Given the description of an element on the screen output the (x, y) to click on. 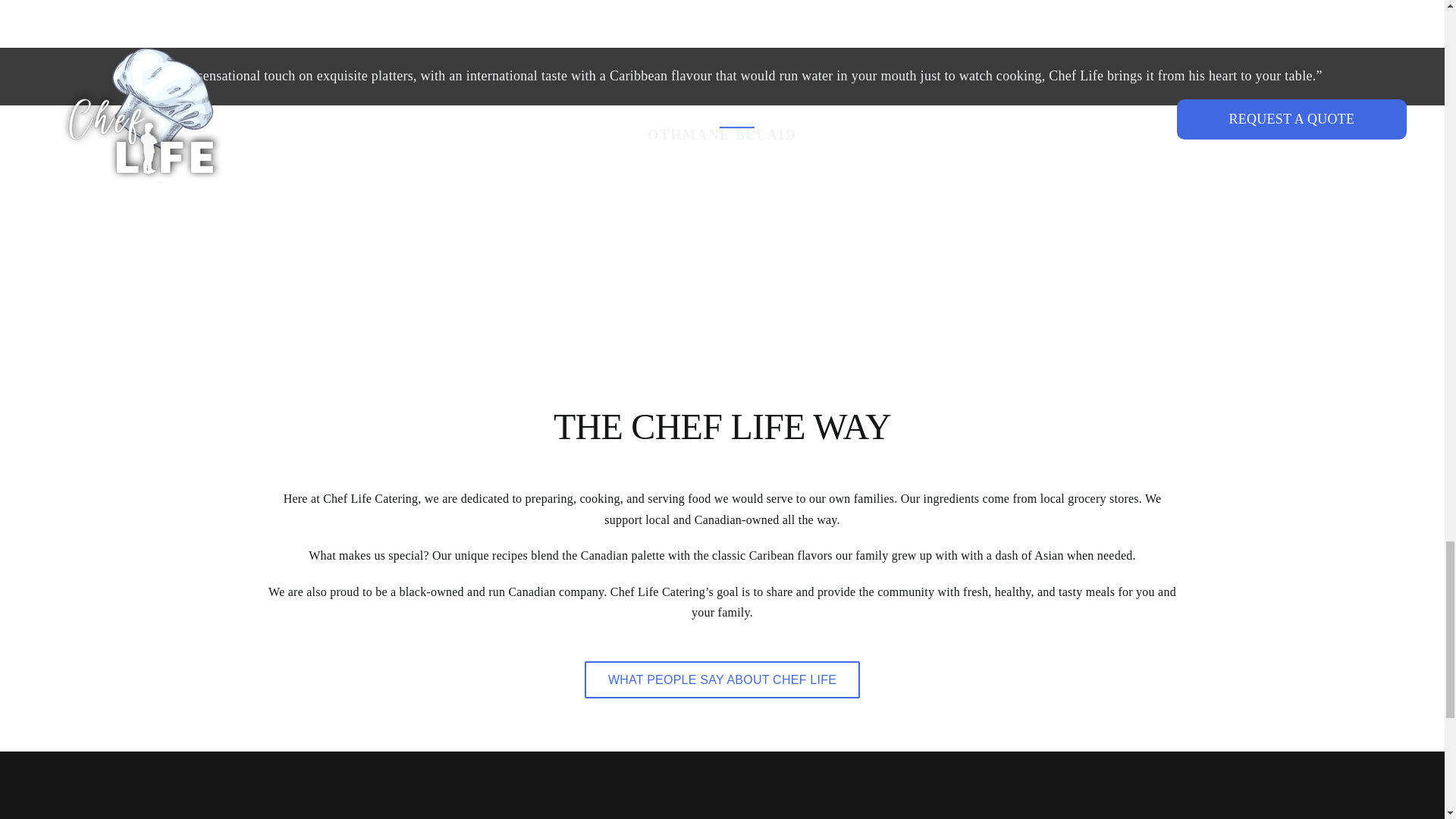
WHAT PEOPLE SAY ABOUT CHEF LIFE (722, 679)
